Given the description of an element on the screen output the (x, y) to click on. 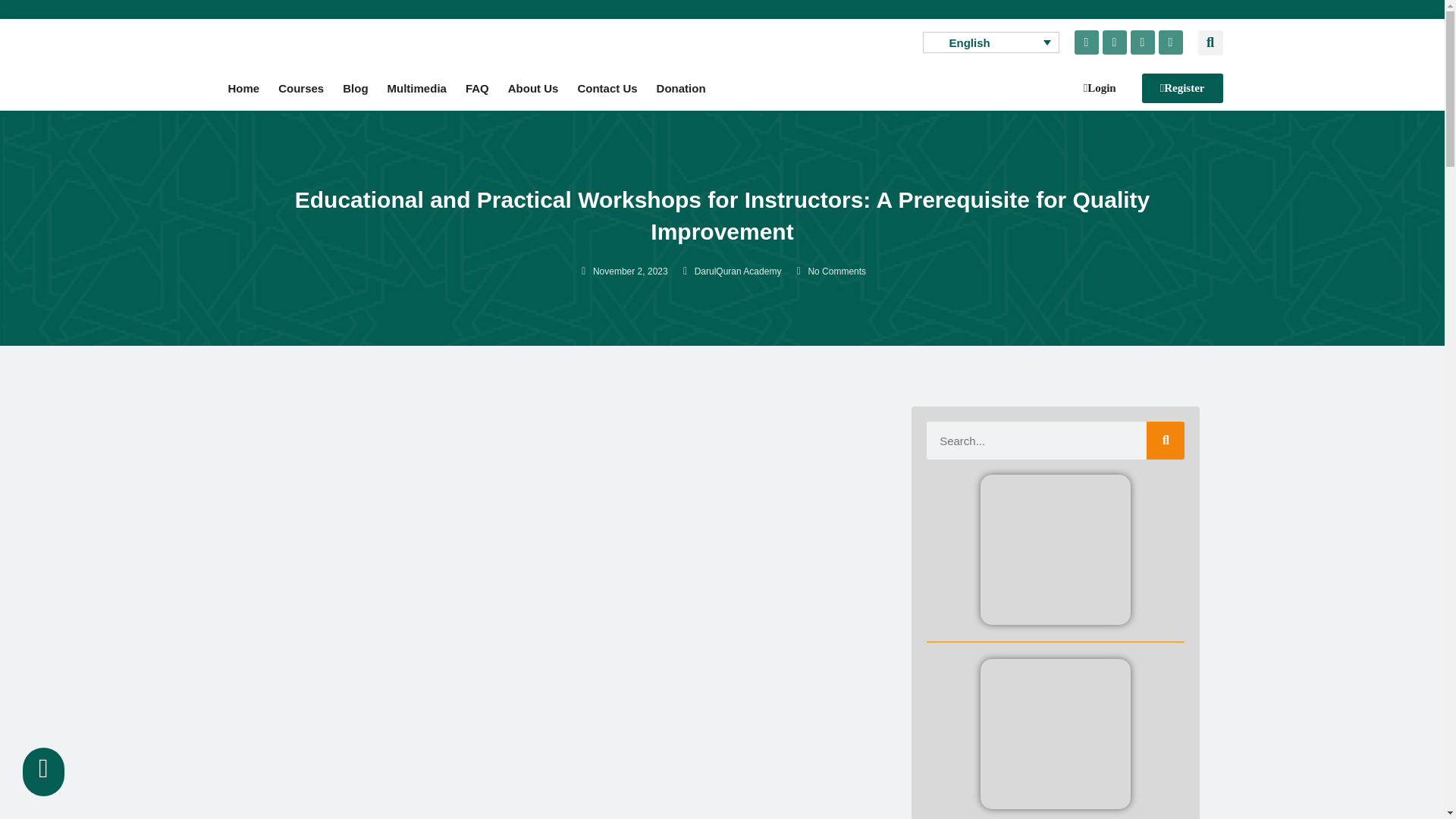
Home (242, 88)
Contact Us (606, 88)
Donation (680, 88)
Courses (301, 88)
About Us (533, 88)
Multimedia (416, 88)
Envelope (1170, 42)
Youtube (1114, 42)
Whatsapp (1085, 42)
English (989, 42)
